Given the description of an element on the screen output the (x, y) to click on. 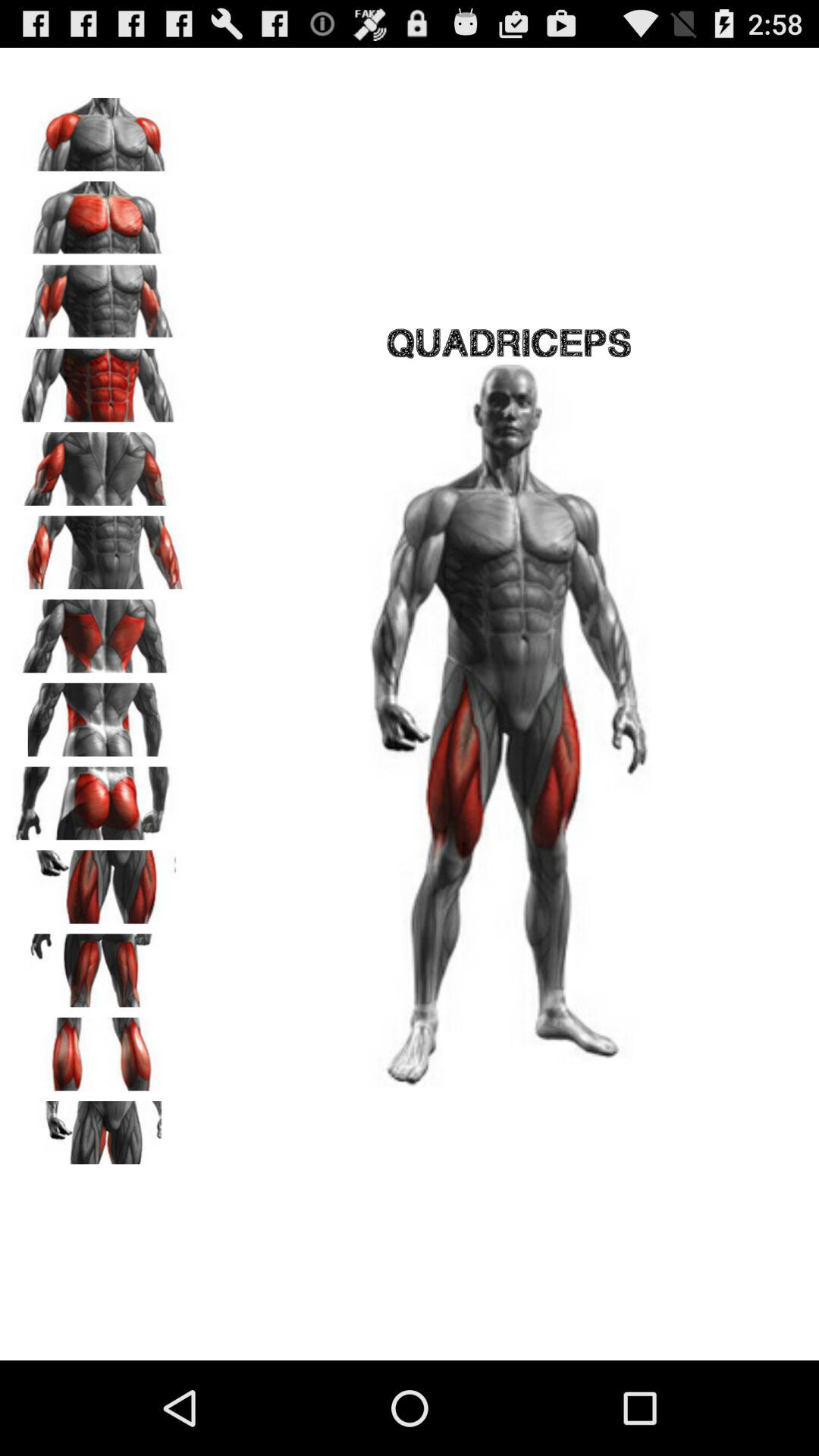
zoom in (99, 1132)
